Given the description of an element on the screen output the (x, y) to click on. 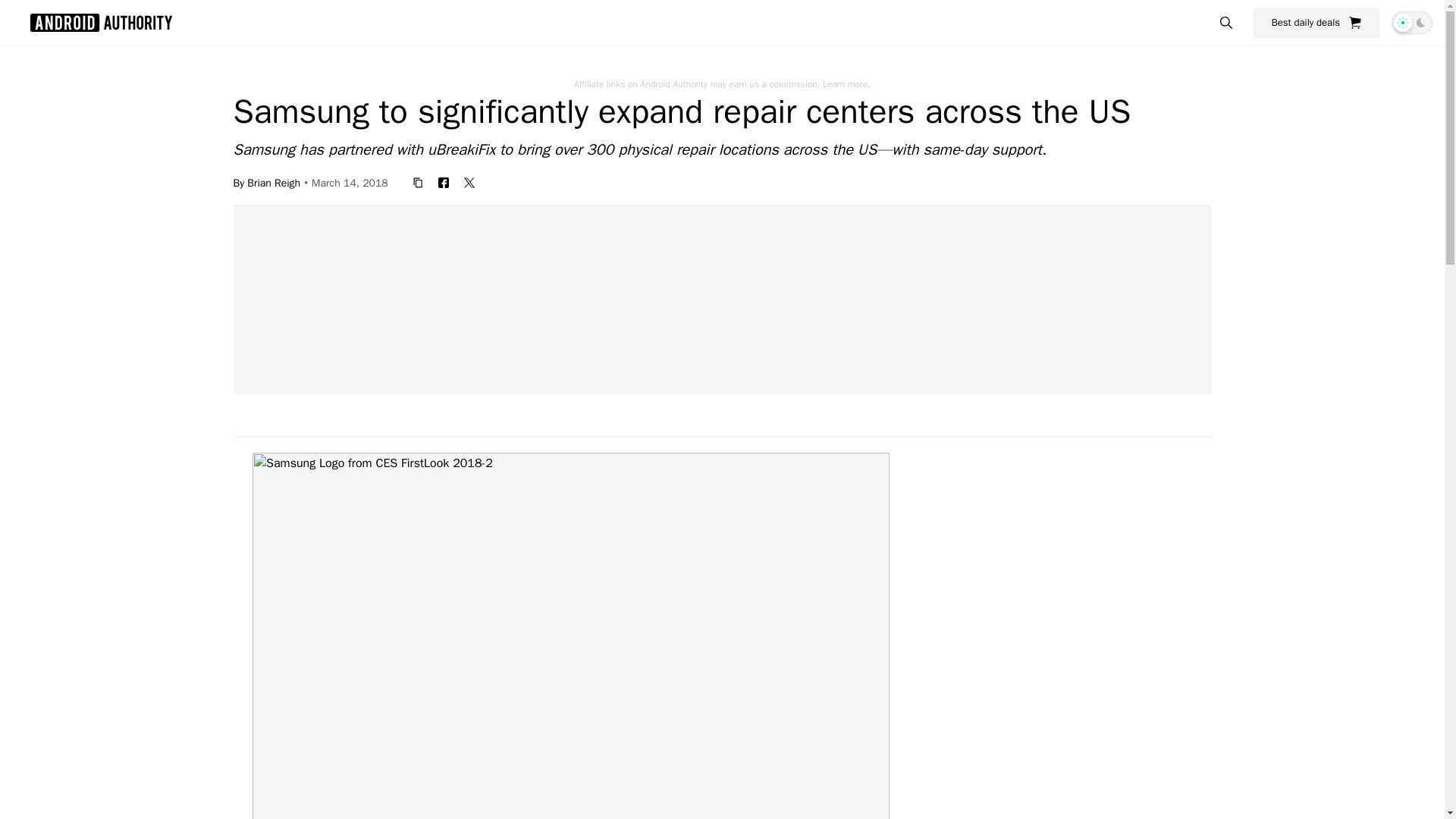
twitter (469, 182)
Learn more. (846, 83)
Best daily deals (1315, 22)
facebook (443, 182)
Brian Reigh (273, 182)
